Given the description of an element on the screen output the (x, y) to click on. 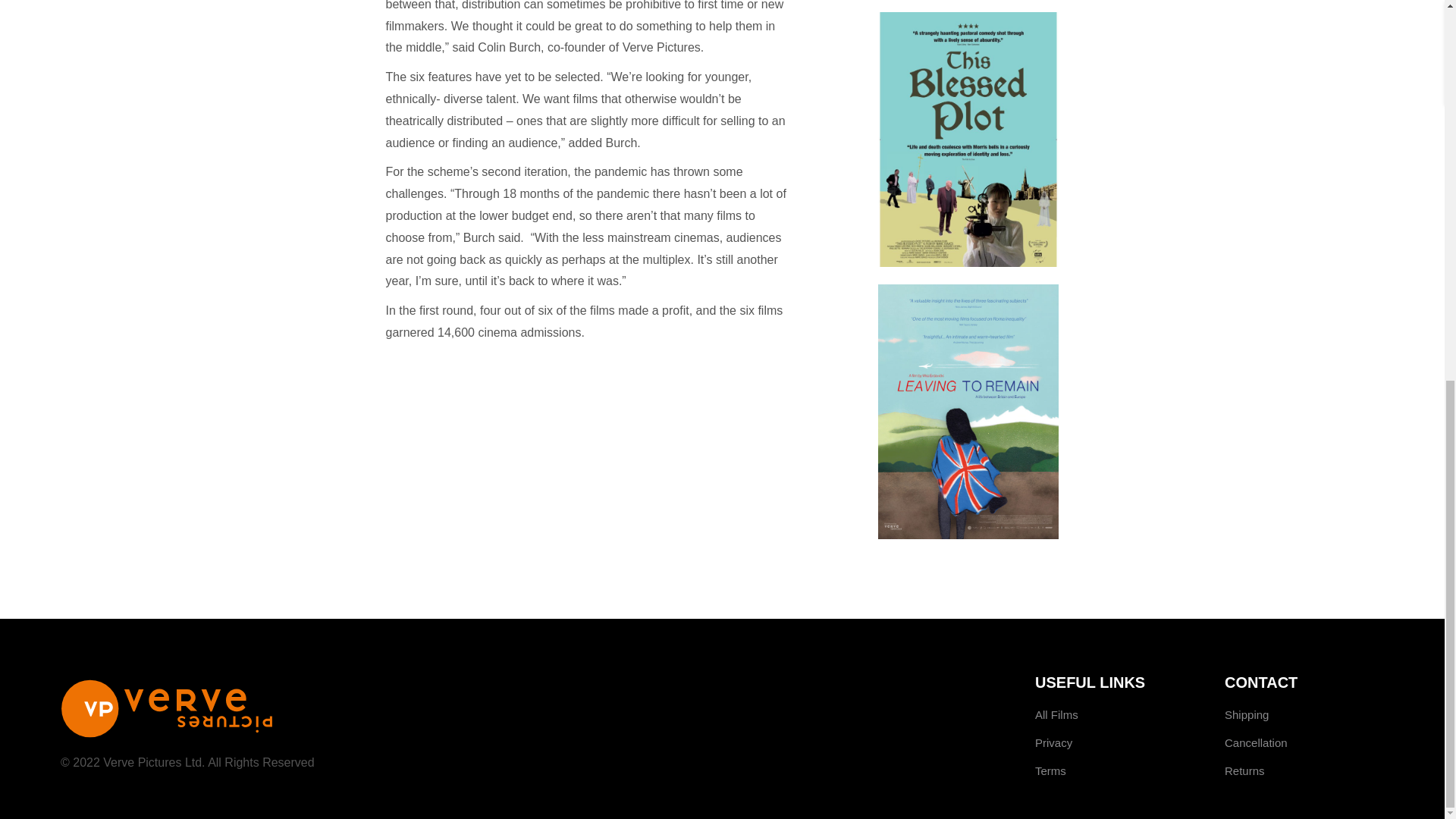
Privacy (1053, 742)
Terms (1050, 770)
Shipping (1246, 714)
All Films (1056, 714)
